Given the description of an element on the screen output the (x, y) to click on. 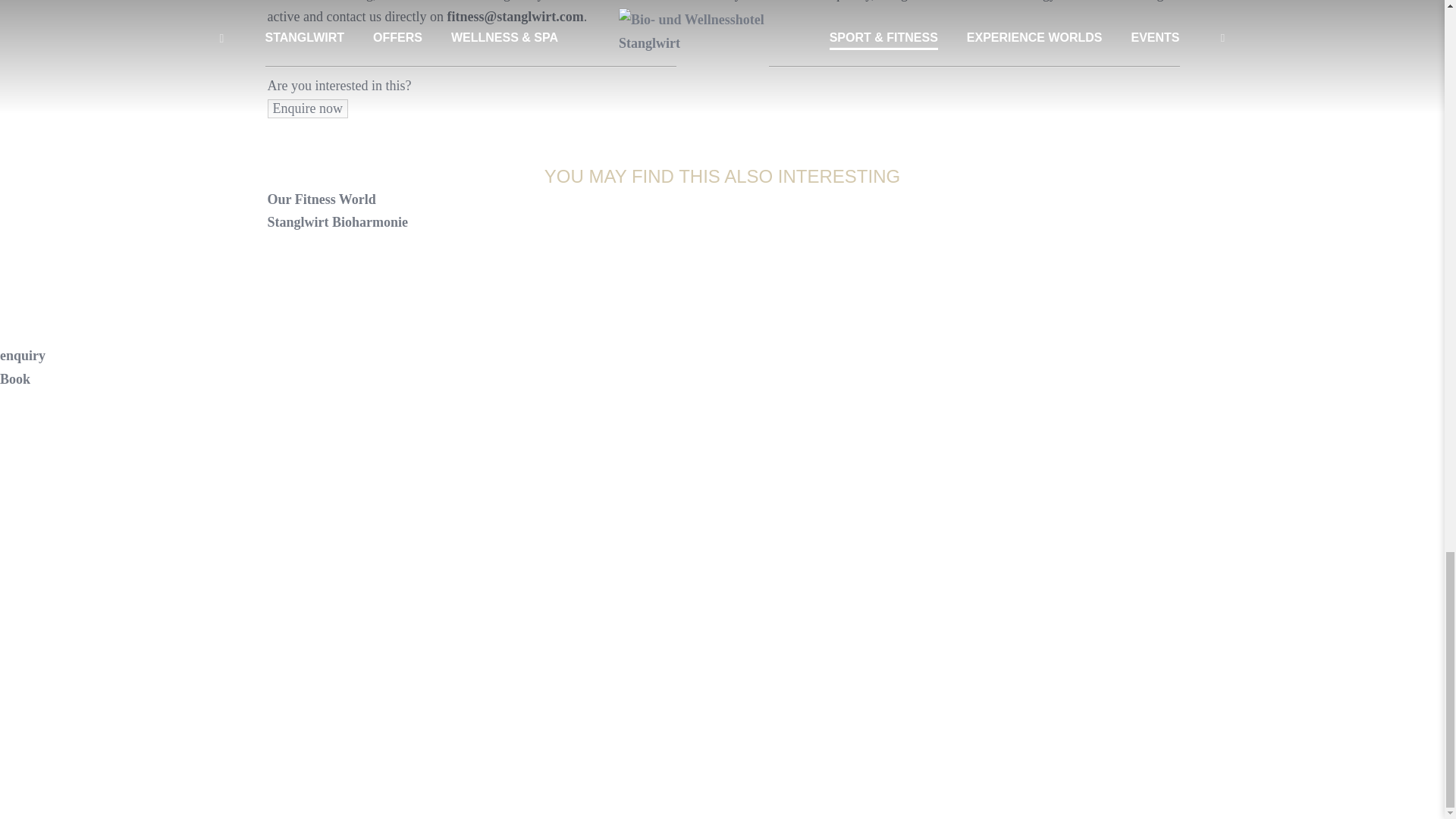
Our Fitness World (320, 199)
Book (15, 378)
Enquire now (306, 108)
enquiry (22, 355)
Enquire now (306, 108)
Stanglwirt Bioharmonie (336, 222)
